Given the description of an element on the screen output the (x, y) to click on. 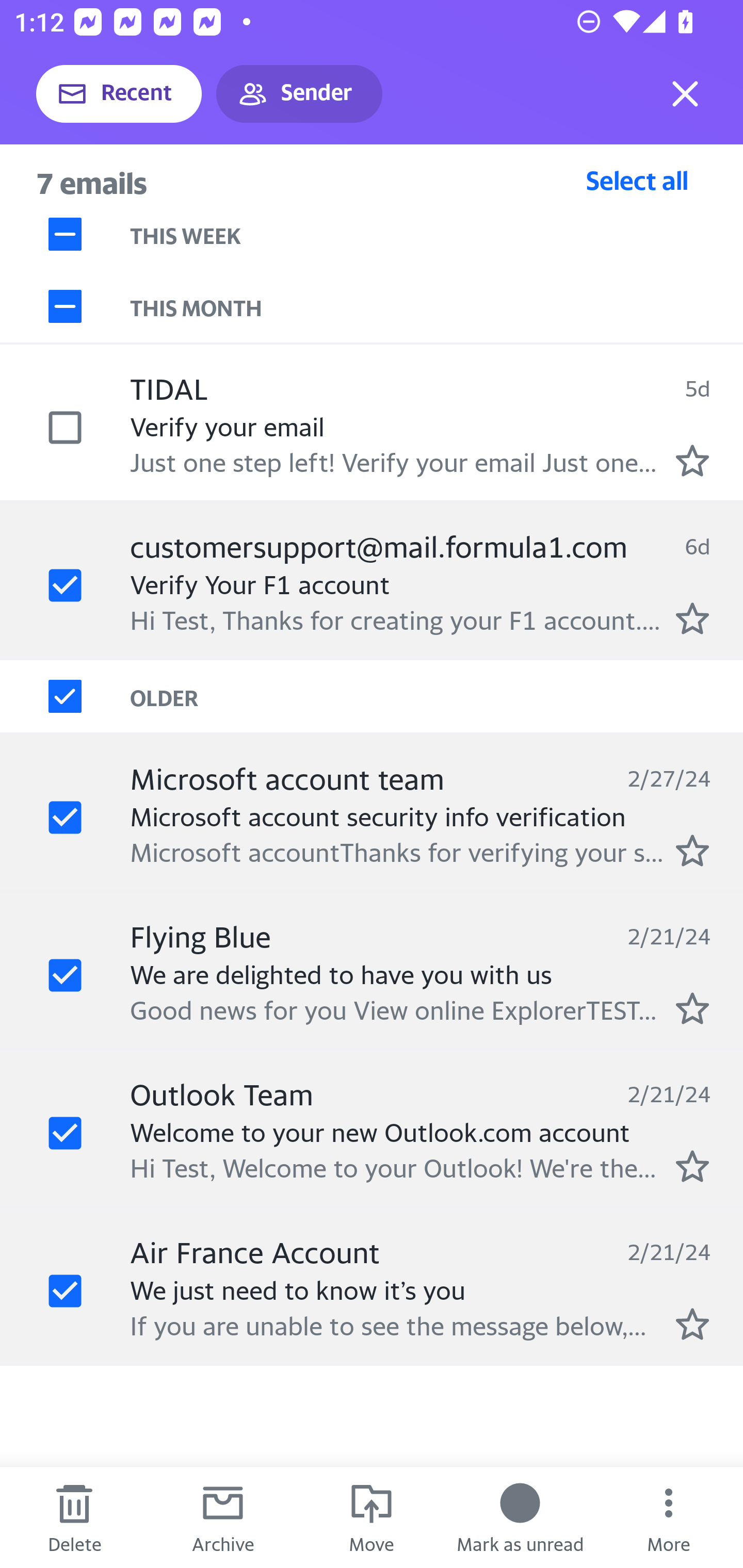
Sender (299, 93)
Exit selection mode (684, 93)
Select all (637, 180)
THIS MONTH (436, 306)
Mark as starred. (692, 460)
Mark as starred. (692, 618)
OLDER (436, 696)
Mark as starred. (692, 850)
Mark as starred. (692, 1008)
Mark as starred. (692, 1165)
Mark as starred. (692, 1324)
Delete (74, 1517)
Archive (222, 1517)
Move (371, 1517)
Mark as unread (519, 1517)
More (668, 1517)
